Given the description of an element on the screen output the (x, y) to click on. 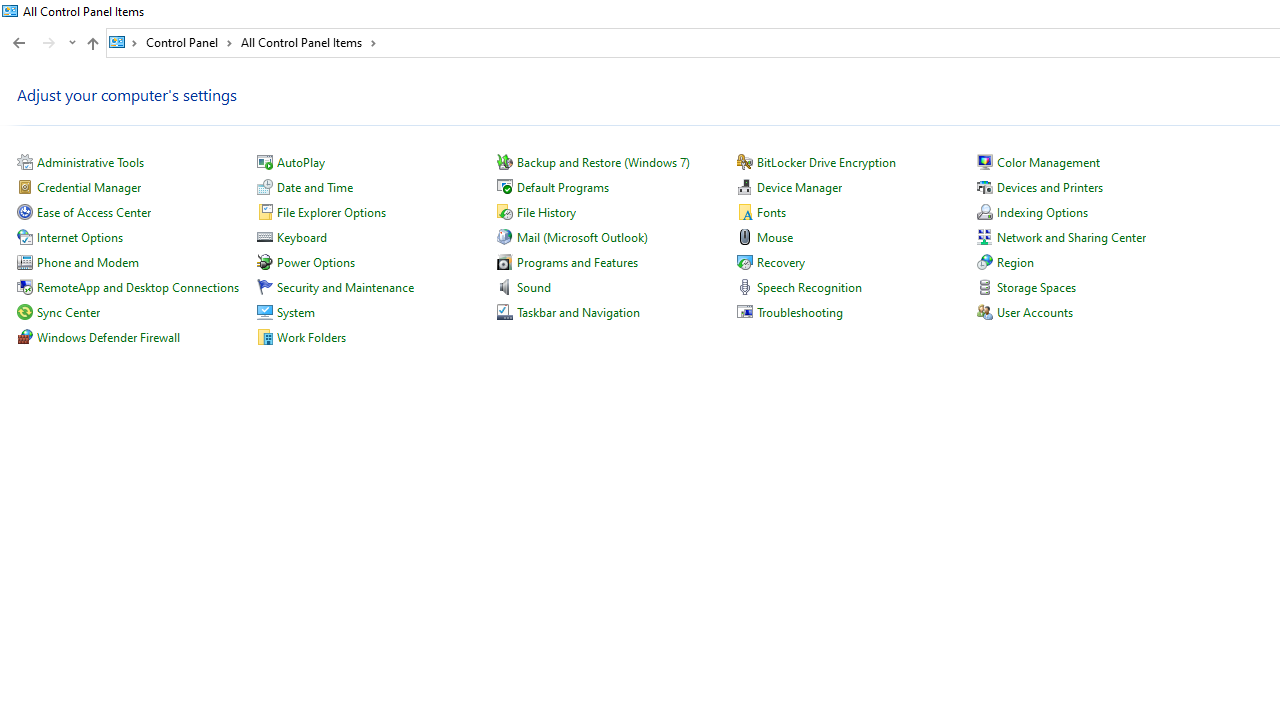
Forward (Alt + Right Arrow) (49, 43)
Keyboard (301, 236)
Storage Spaces (1035, 287)
System (10, 11)
